Given the description of an element on the screen output the (x, y) to click on. 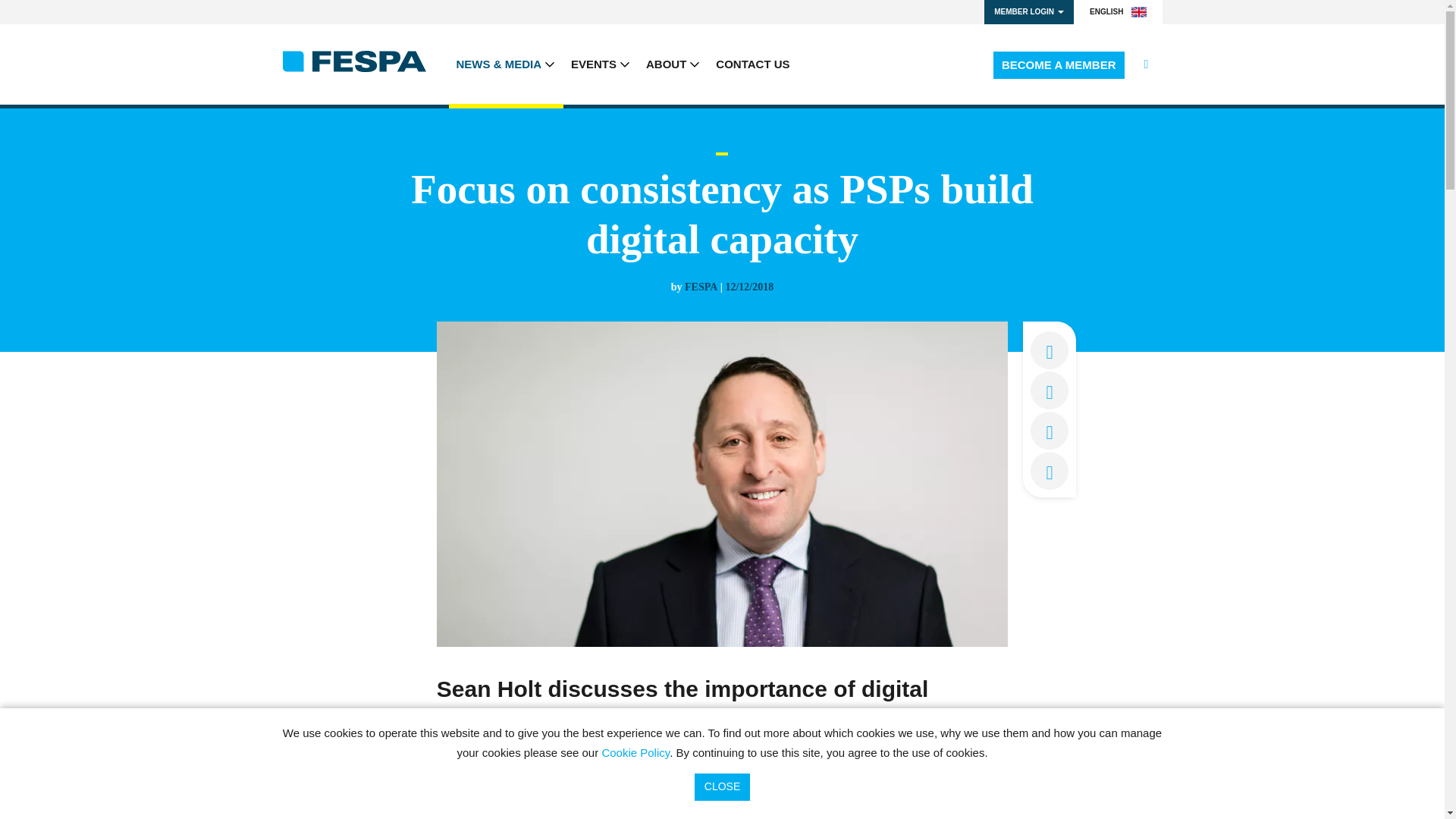
MEMBER LOGIN (1029, 12)
ABOUT (673, 63)
ENGLISH (1117, 12)
EVENTS (601, 63)
